Given the description of an element on the screen output the (x, y) to click on. 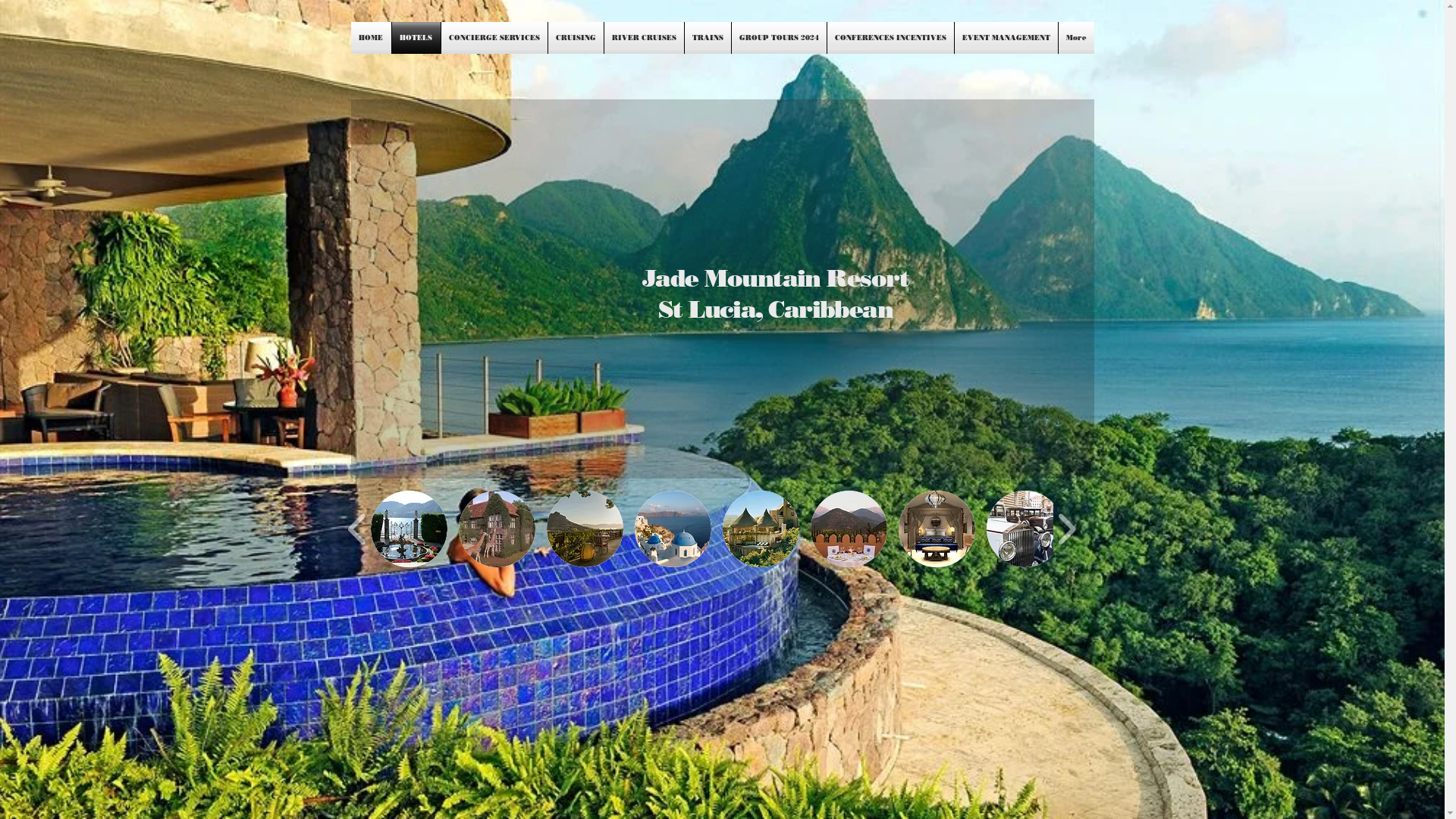
EVENT MANAGEMENT Element type: text (1005, 37)
TRAINS Element type: text (707, 37)
HOME Element type: text (370, 37)
CONFERENCES INCENTIVES Element type: text (889, 37)
HOTELS Element type: text (415, 37)
RIVER CRUISES Element type: text (643, 37)
CRUISING Element type: text (574, 37)
CONCIERGE SERVICES Element type: text (494, 37)
